Given the description of an element on the screen output the (x, y) to click on. 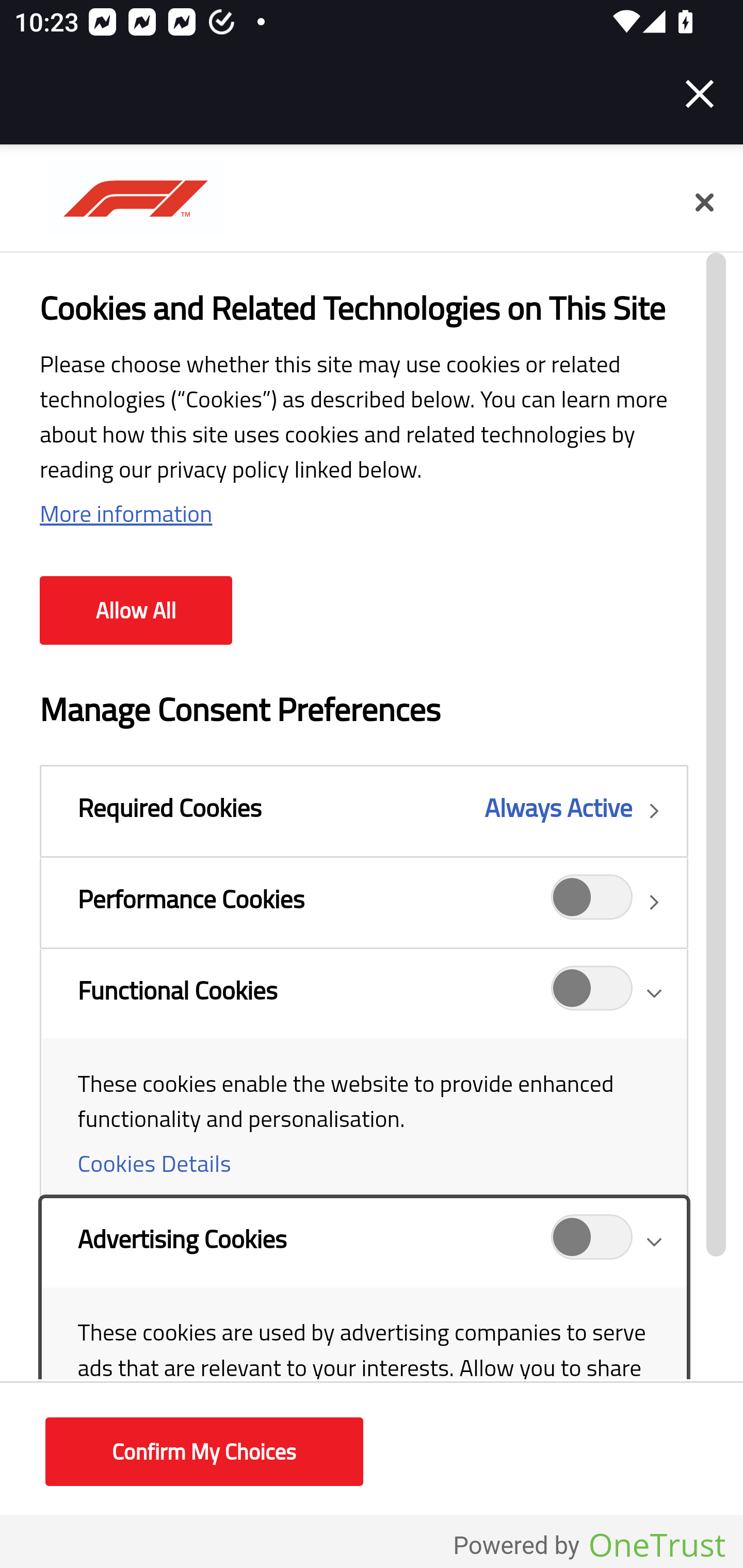
Close (699, 93)
Close (703, 203)
Allow All (135, 610)
Required Cookies (363, 811)
Performance Cookies (363, 902)
Performance Cookies (591, 902)
Functional Cookies (363, 1071)
Functional Cookies (591, 994)
Advertising Cookies (363, 1356)
Advertising Cookies (591, 1243)
Confirm My Choices (203, 1452)
Powered by OneTrust Opens in a new Tab (589, 1546)
